Given the description of an element on the screen output the (x, y) to click on. 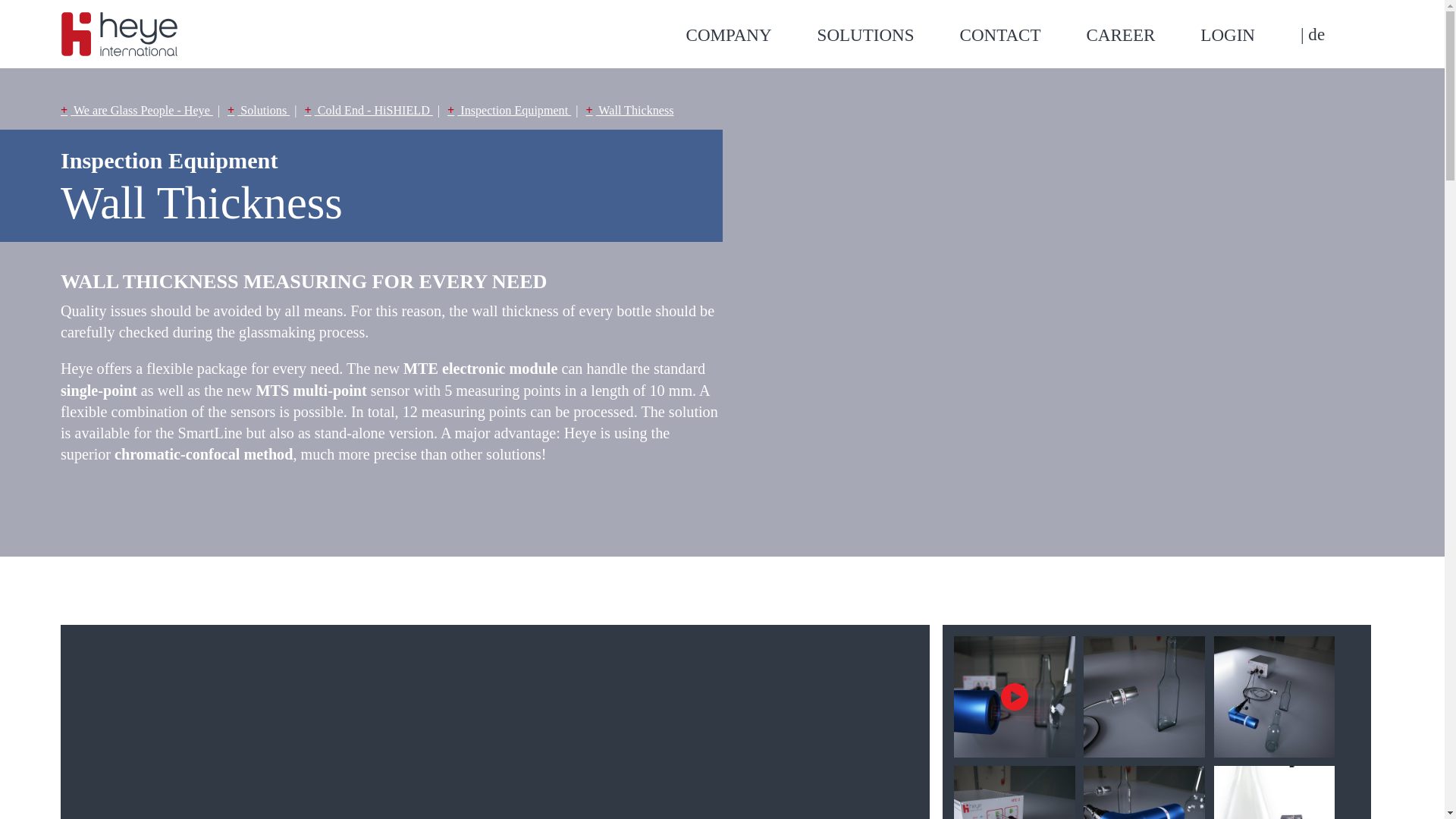
LOGIN (1249, 34)
CONTACT (1022, 34)
COMPANY (750, 34)
Deutsch (1312, 34)
CAREER (1142, 34)
SOLUTIONS (887, 34)
